Given the description of an element on the screen output the (x, y) to click on. 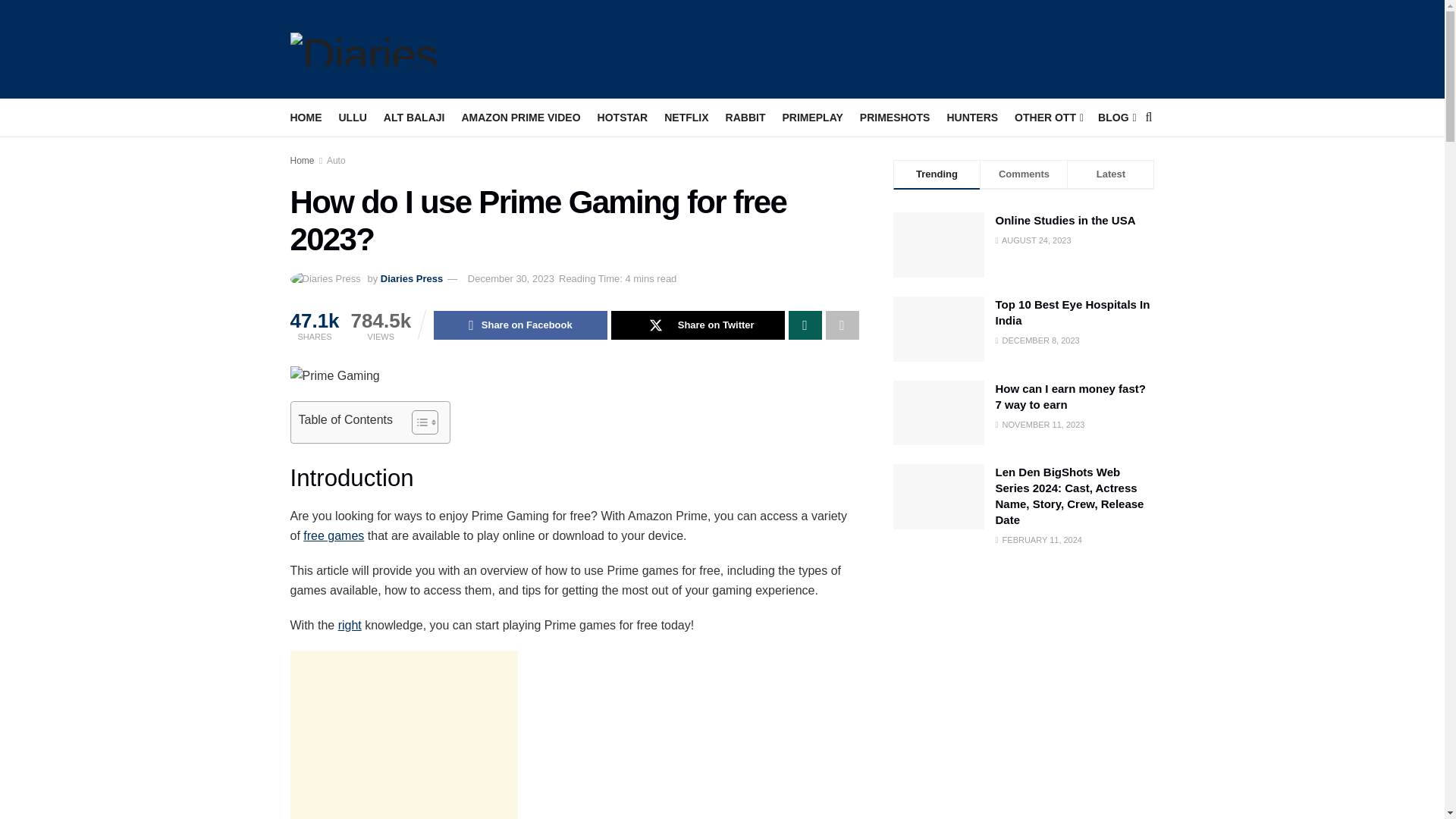
ALT BALAJI (414, 117)
BLOG (1115, 117)
AMAZON PRIME VIDEO (520, 117)
PRIMEPLAY (812, 117)
PRIMESHOTS (895, 117)
HUNTERS (971, 117)
HOTSTAR (621, 117)
OTHER OTT (1047, 117)
RABBIT (745, 117)
NETFLIX (685, 117)
